Given the description of an element on the screen output the (x, y) to click on. 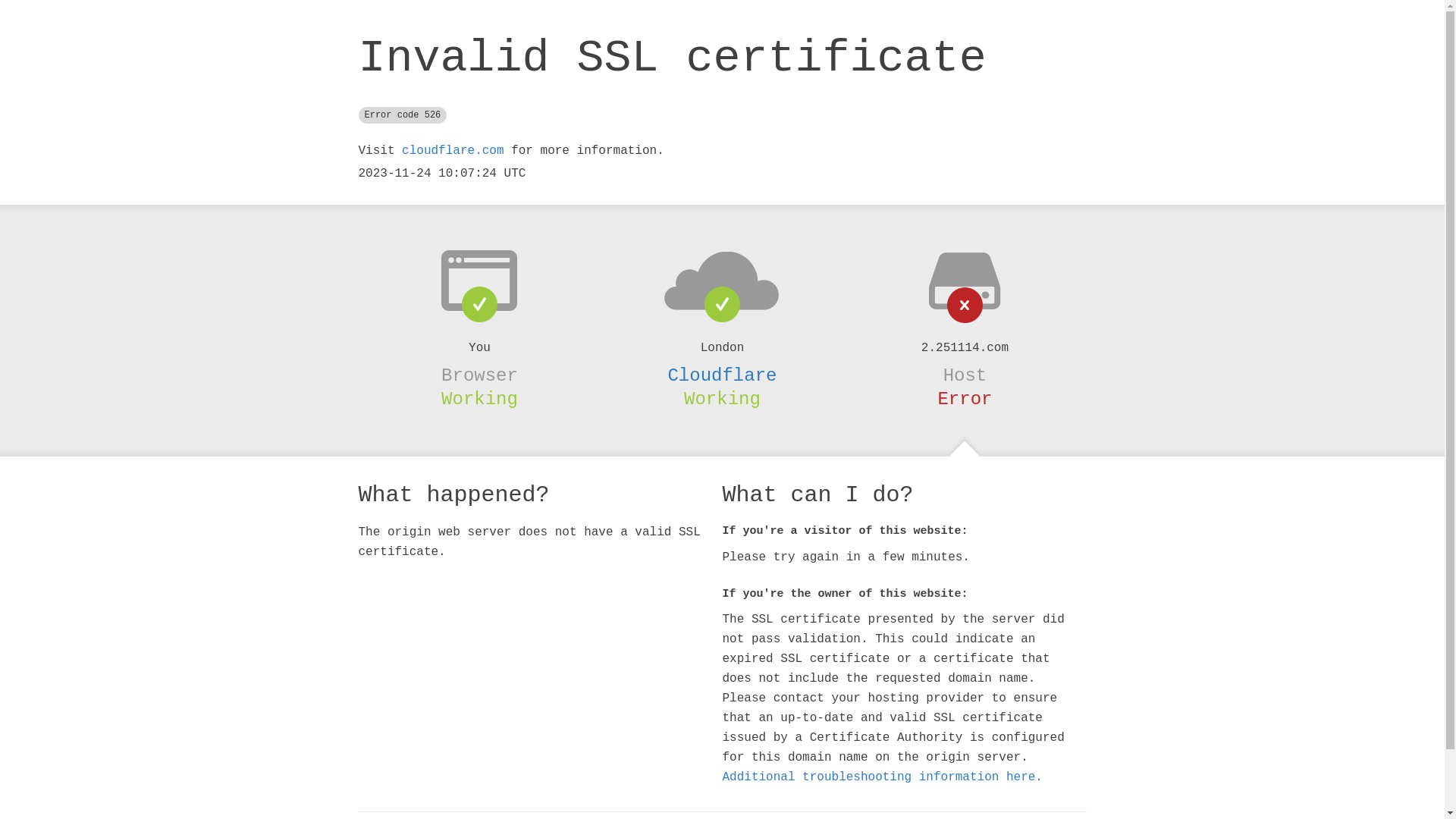
Cloudflare Element type: text (721, 375)
Additional troubleshooting information here. Element type: text (881, 777)
cloudflare.com Element type: text (452, 150)
